Given the description of an element on the screen output the (x, y) to click on. 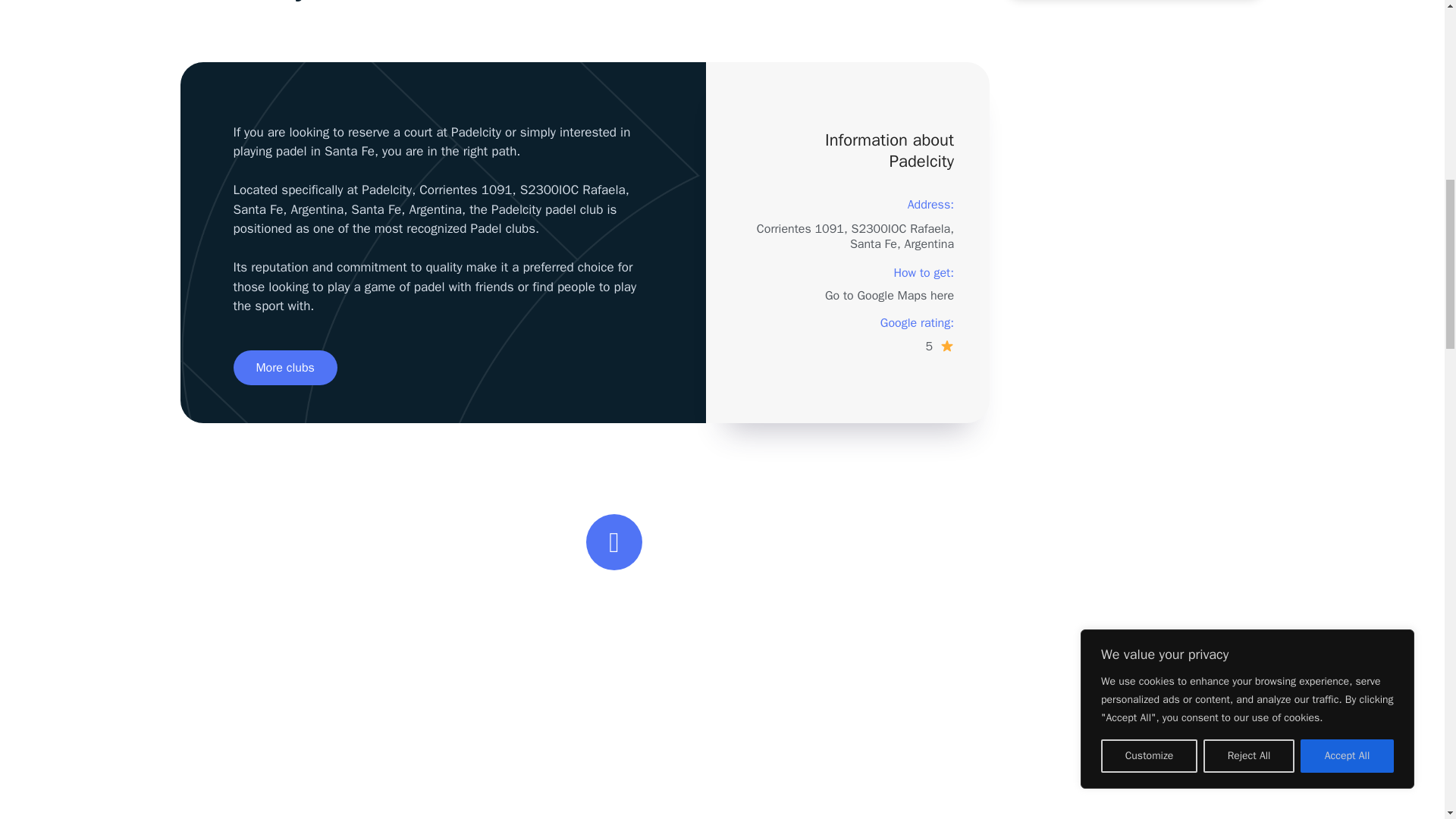
More clubs (284, 367)
Go to Google Maps here (889, 295)
